Given the description of an element on the screen output the (x, y) to click on. 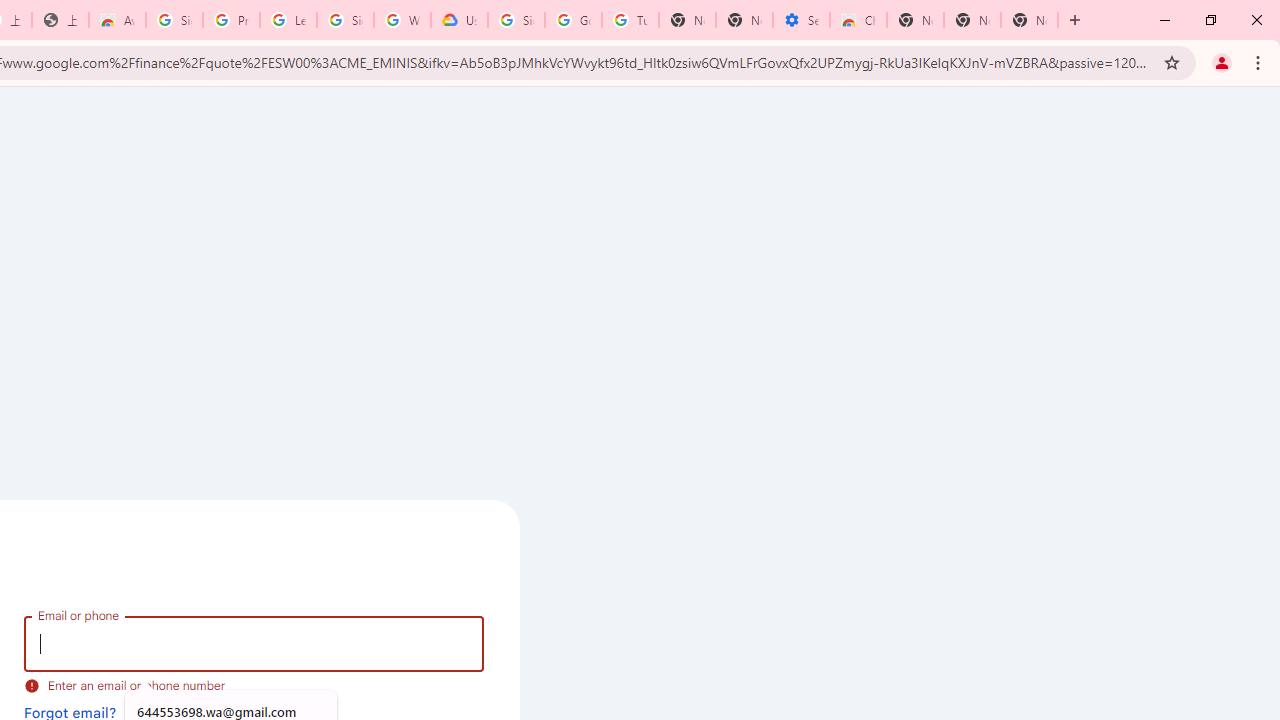
New Tab (1029, 20)
Who are Google's partners? - Privacy and conditions - Google (402, 20)
Google Account Help (573, 20)
Sign in - Google Accounts (174, 20)
Email or phone (253, 643)
Awesome Screen Recorder & Screenshot - Chrome Web Store (116, 20)
New Tab (915, 20)
Chrome Web Store - Accessibility extensions (858, 20)
